Given the description of an element on the screen output the (x, y) to click on. 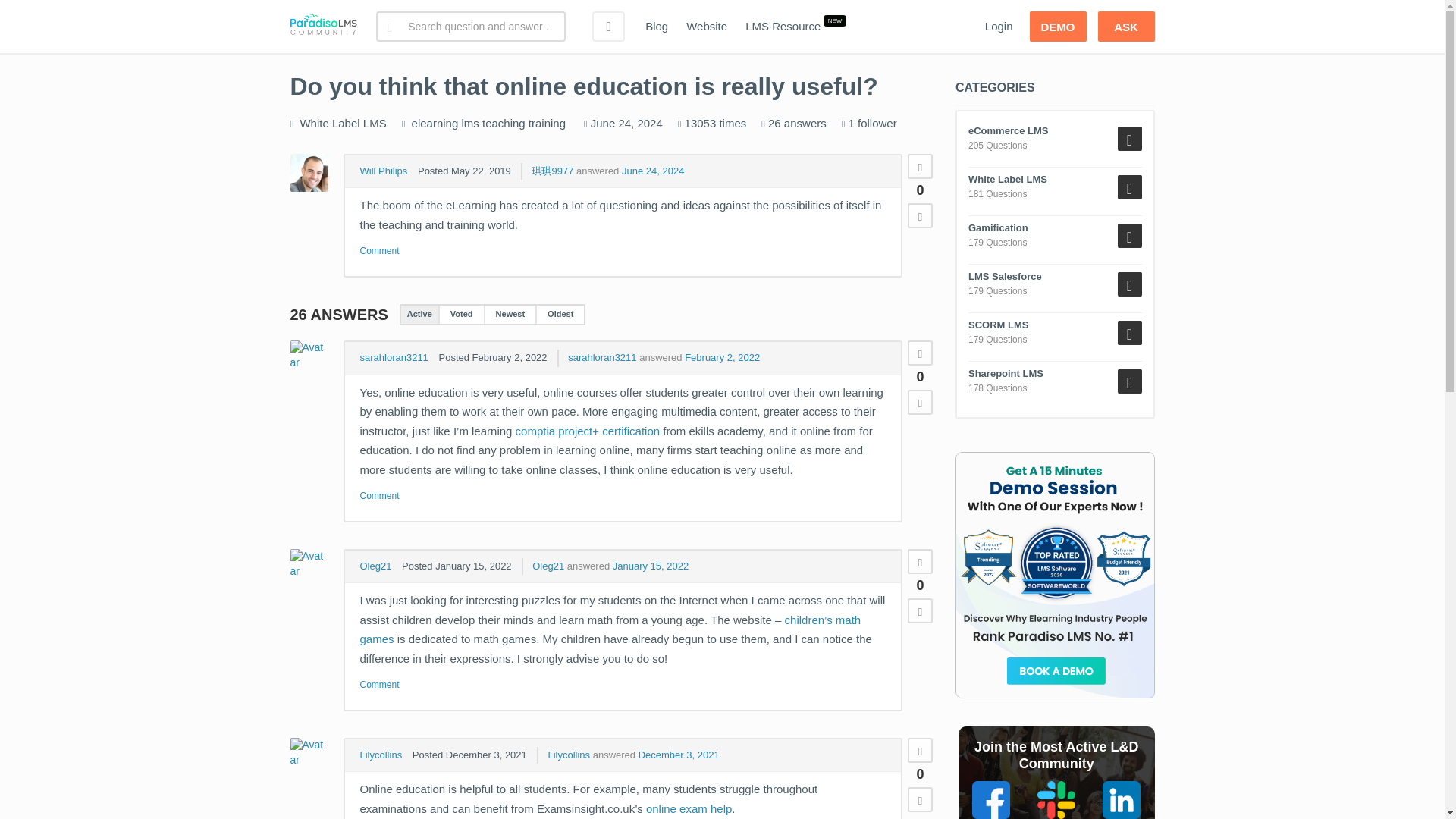
Up vote this post (920, 166)
Comment (378, 251)
lms (470, 123)
June 24, 2024 (652, 170)
DEMO (1057, 26)
ASK (1125, 26)
Blog (656, 26)
elearning (435, 123)
training (547, 123)
Up vote this post (920, 352)
